Given the description of an element on the screen output the (x, y) to click on. 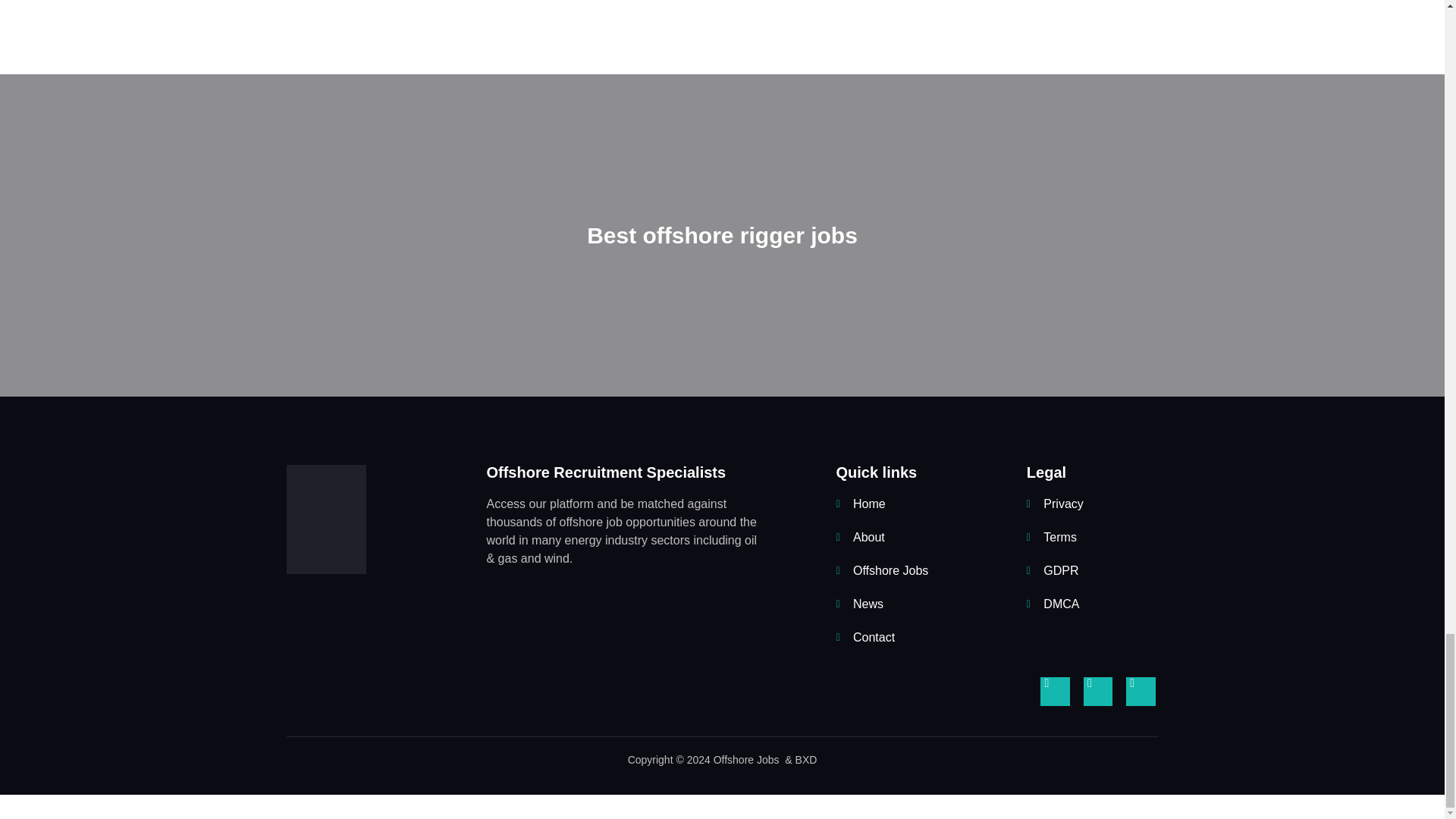
Home (907, 504)
DMCA (1082, 604)
Offshore Jobs (907, 570)
Privacy (1082, 504)
Contact (907, 637)
News (907, 604)
GDPR (1082, 570)
Terms (1082, 537)
About (907, 537)
